Given the description of an element on the screen output the (x, y) to click on. 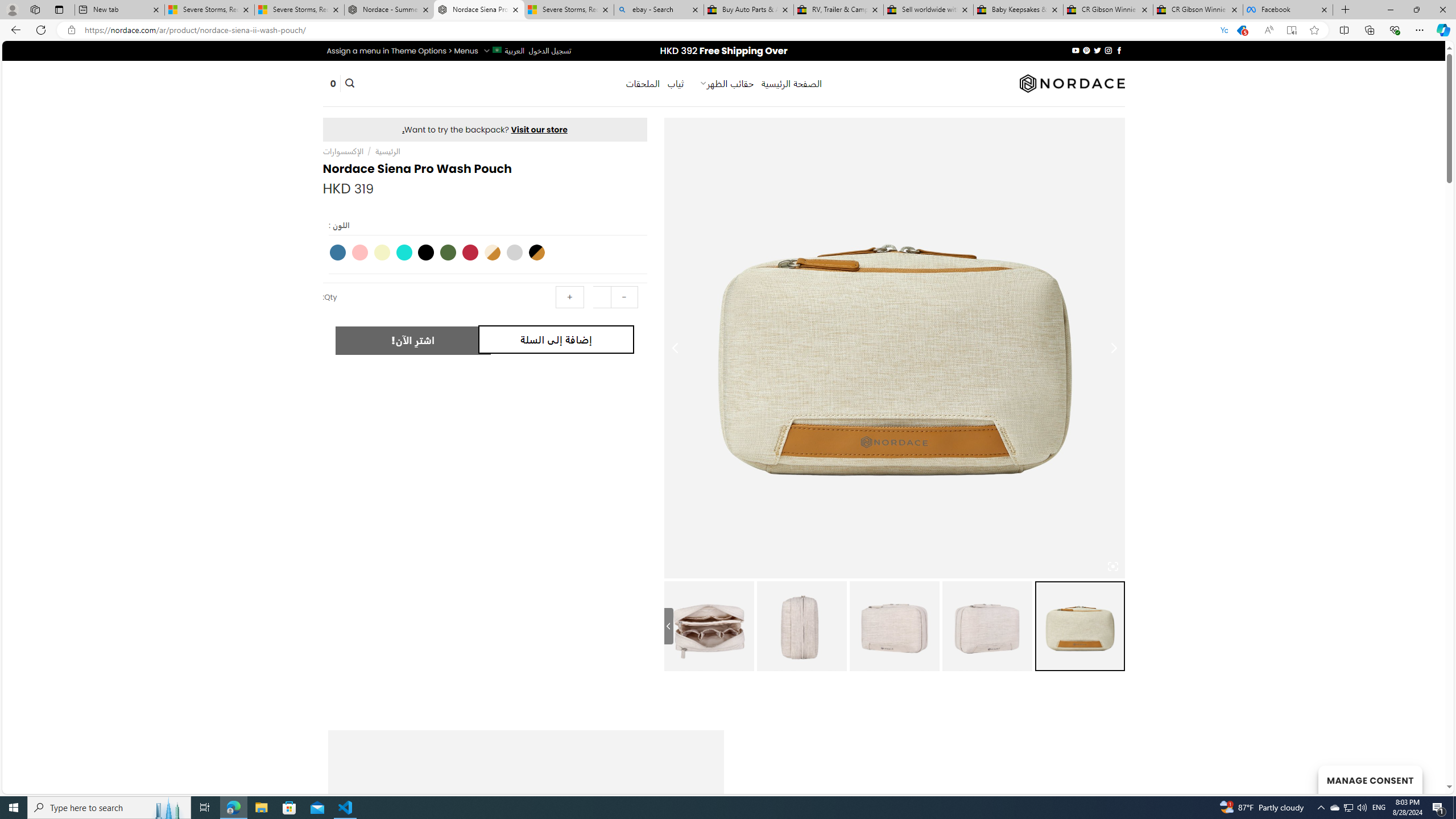
Baby Keepsakes & Announcements for sale | eBay (1018, 9)
Enter Immersive Reader (F9) (1291, 29)
App bar (728, 29)
